Given the description of an element on the screen output the (x, y) to click on. 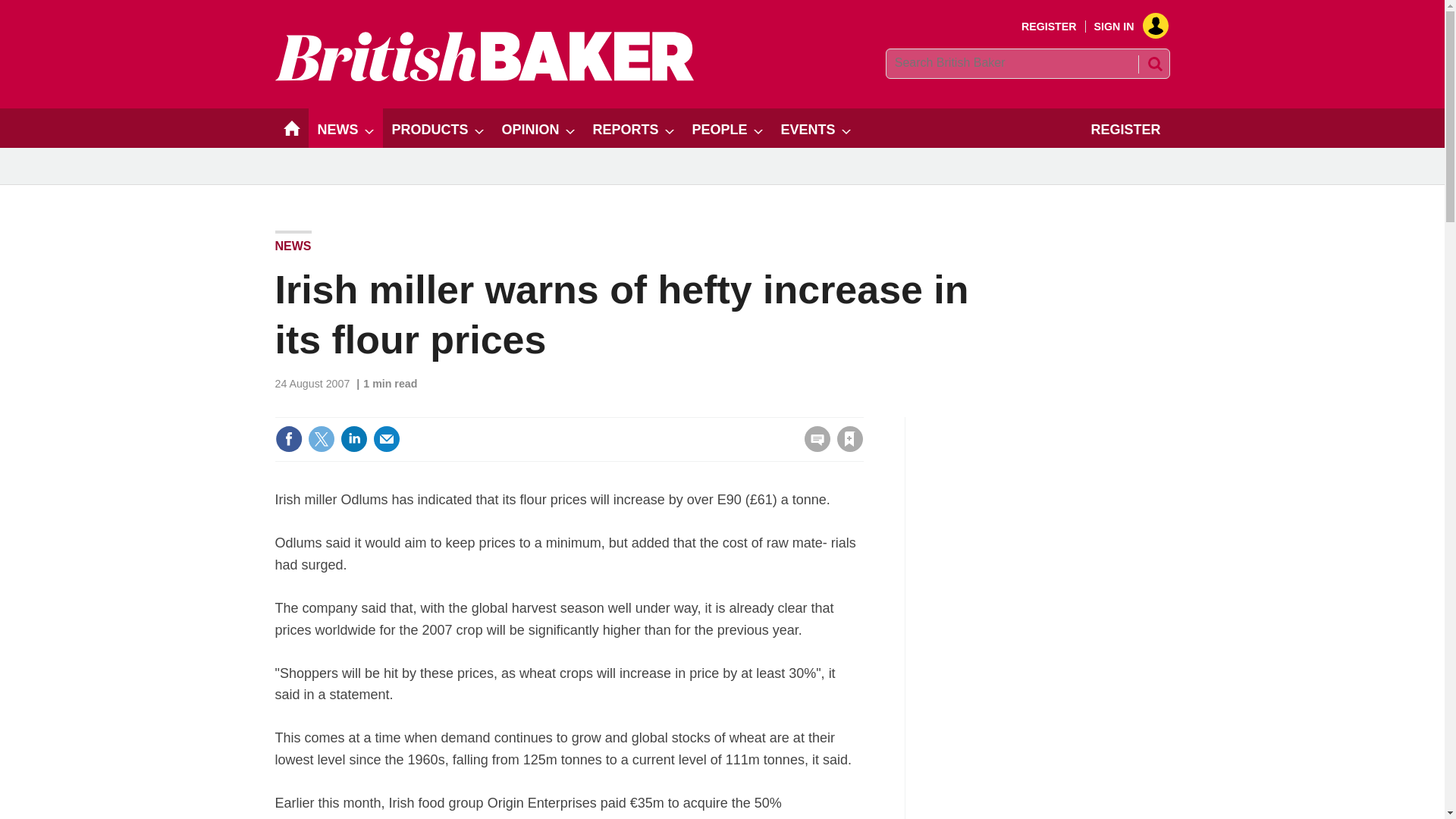
No comments (812, 447)
REGISTER (1049, 26)
Share this on Linked in (352, 438)
Email this article (386, 438)
Share this on Facebook (288, 438)
Site name (484, 76)
SEARCH (1153, 63)
Share this on Twitter (320, 438)
SIGN IN (1125, 26)
